Given the description of an element on the screen output the (x, y) to click on. 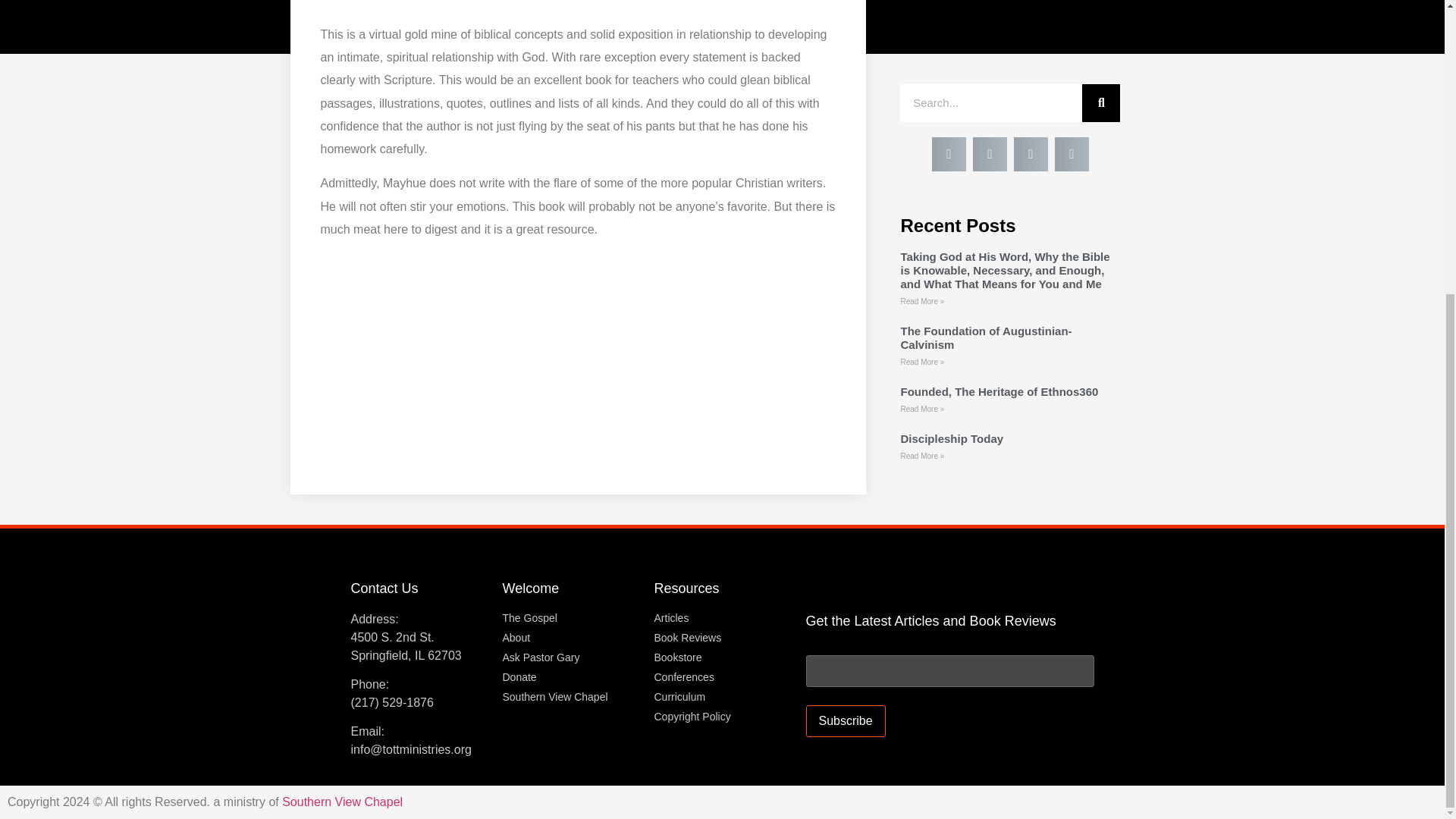
Bookstore (721, 657)
The Foundation of Augustinian-Calvinism (985, 337)
Southern View Chapel (570, 696)
The Gospel (570, 617)
Founded, The Heritage of Ethnos360 (998, 391)
Donate (570, 676)
Subscribe (845, 721)
Curriculum (721, 696)
Articles (721, 617)
Discipleship Today (951, 438)
Book Reviews (721, 637)
About (570, 637)
Copyright Policy (721, 715)
Conferences (721, 676)
